Given the description of an element on the screen output the (x, y) to click on. 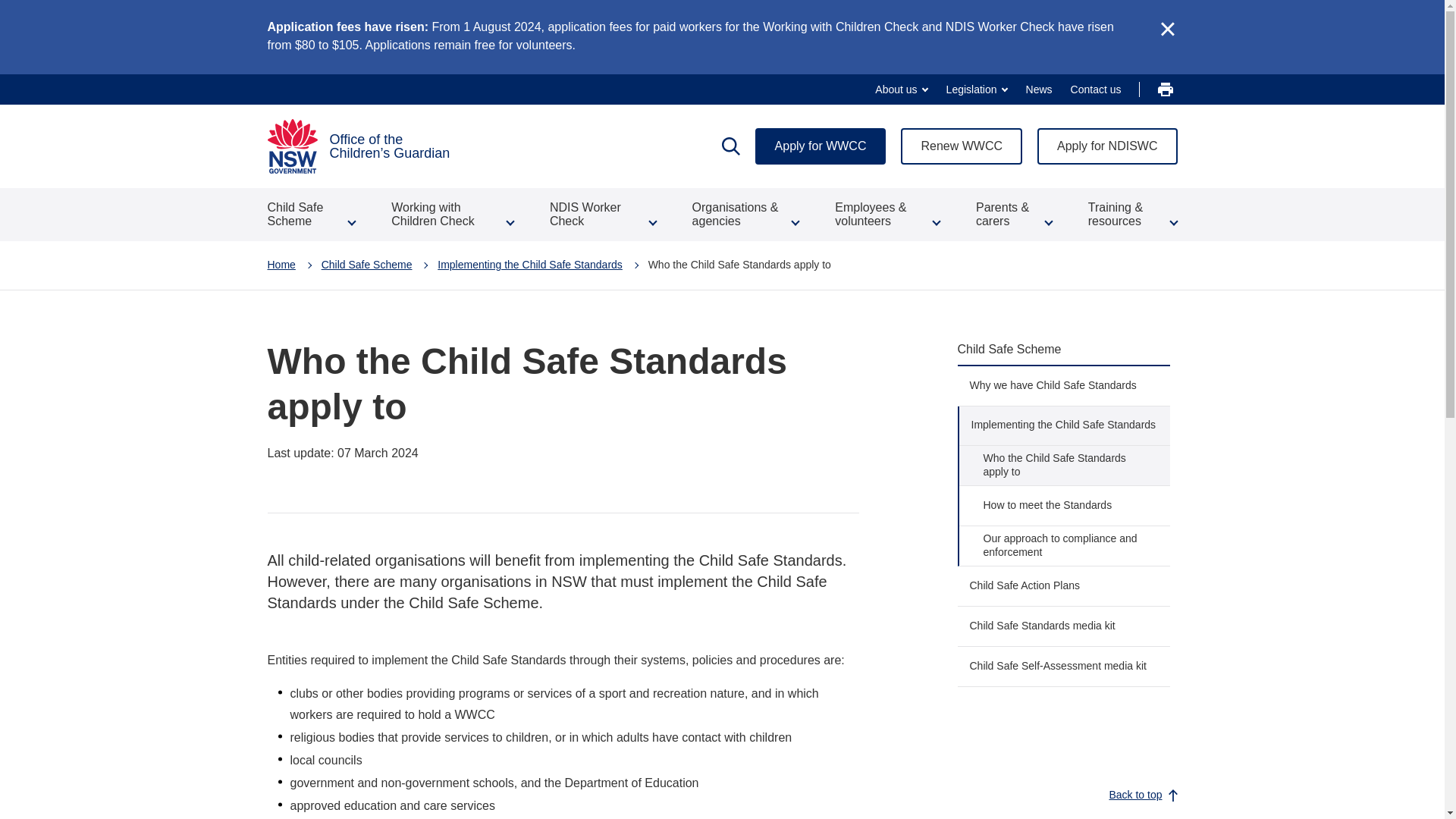
Contact us (1095, 89)
Renew WWCC (961, 145)
Go to Child Safe Scheme page (366, 265)
Apply for WWCC (820, 145)
Back to top (1140, 794)
Apply for NDISWC (1106, 145)
Go to Home page (280, 265)
Print this page (1164, 88)
Go to Implementing the Child Safe Standards page (530, 265)
